Given the description of an element on the screen output the (x, y) to click on. 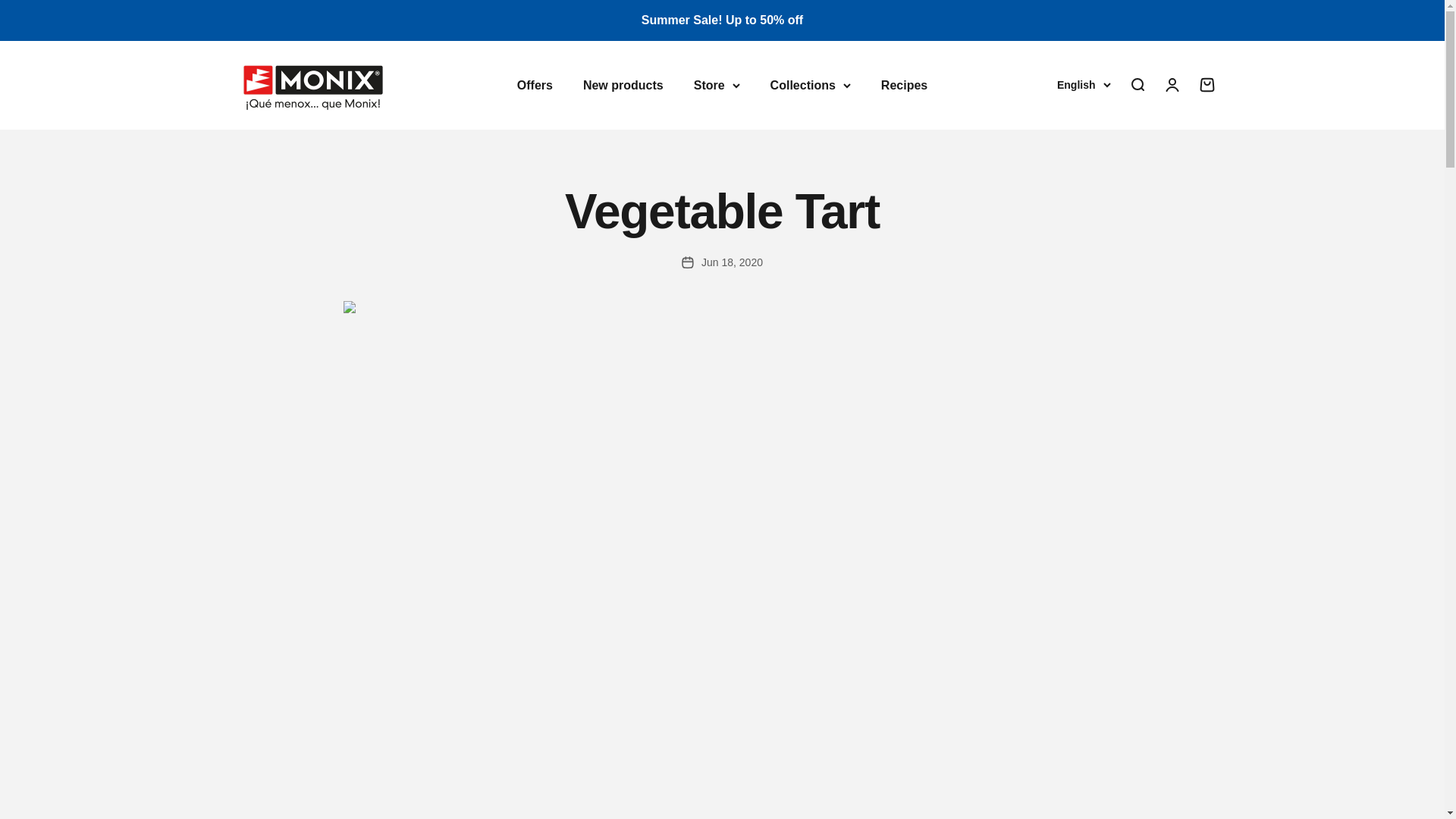
New products (623, 83)
Offers (534, 83)
